Given the description of an element on the screen output the (x, y) to click on. 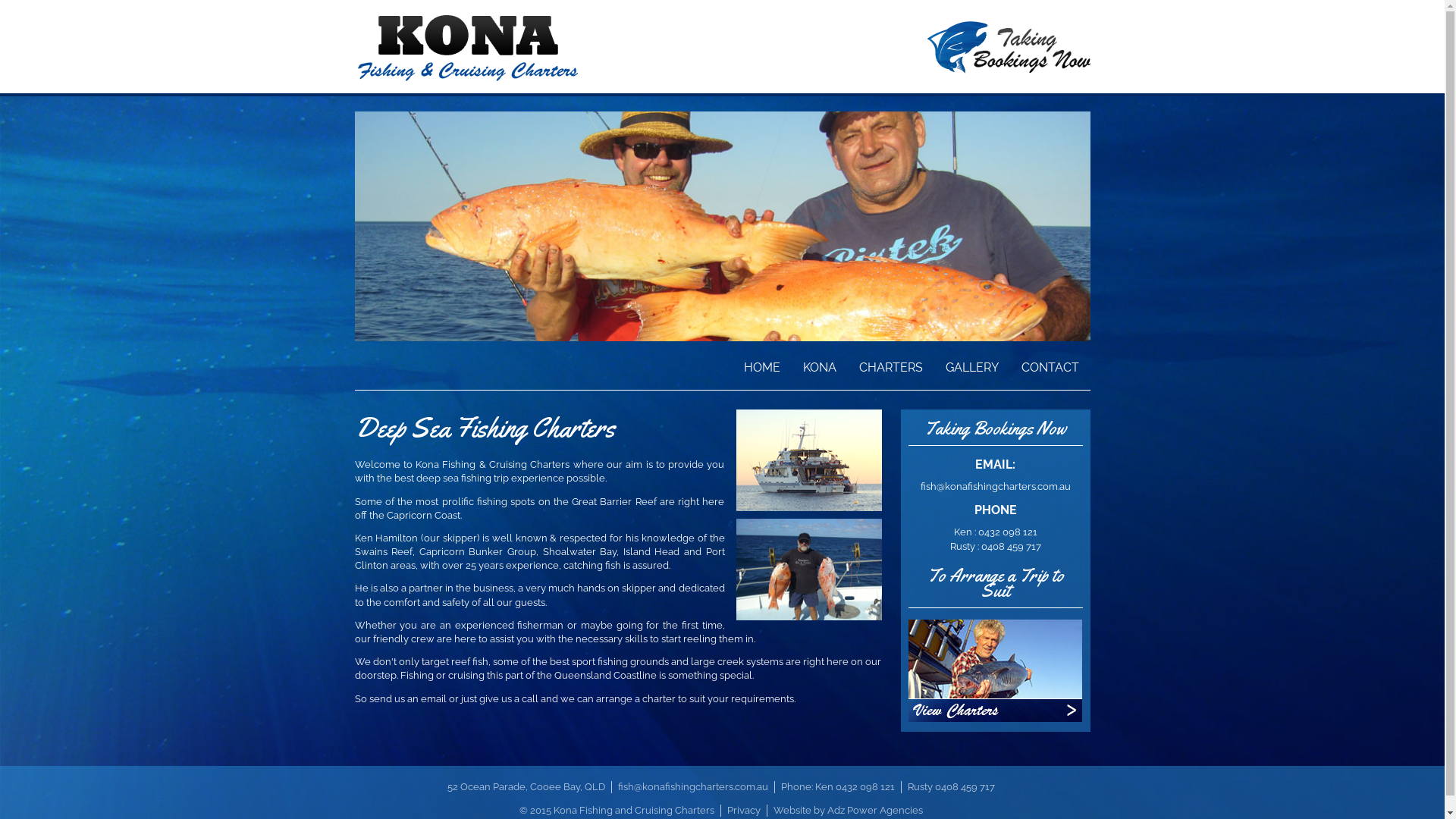
GALLERY Element type: text (972, 361)
fish@konafishingcharters.com.au Element type: text (693, 786)
CONTACT Element type: text (1050, 361)
fish@konafishingcharters.com.au Element type: text (995, 486)
KONA Element type: text (819, 361)
Privacy Element type: text (743, 809)
HOME Element type: text (761, 361)
Website by Adz Power Agencies Element type: text (847, 809)
CHARTERS Element type: text (890, 361)
